Given the description of an element on the screen output the (x, y) to click on. 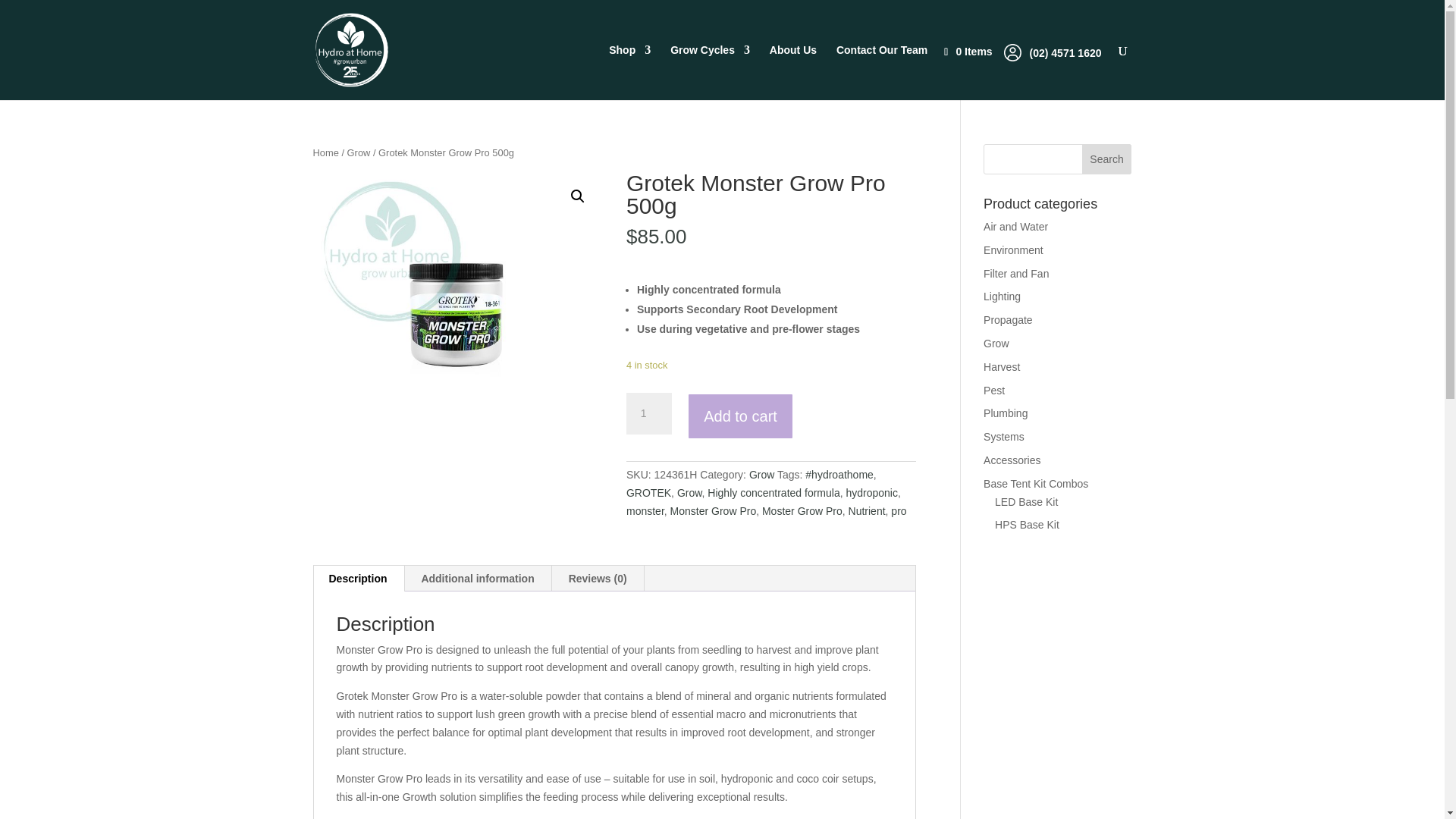
Grow (359, 152)
1 (648, 413)
124361 (457, 316)
Grow Cycles (709, 72)
Contact Our Team (881, 72)
0 Items (975, 51)
Search (1106, 159)
Home (325, 152)
